Given the description of an element on the screen output the (x, y) to click on. 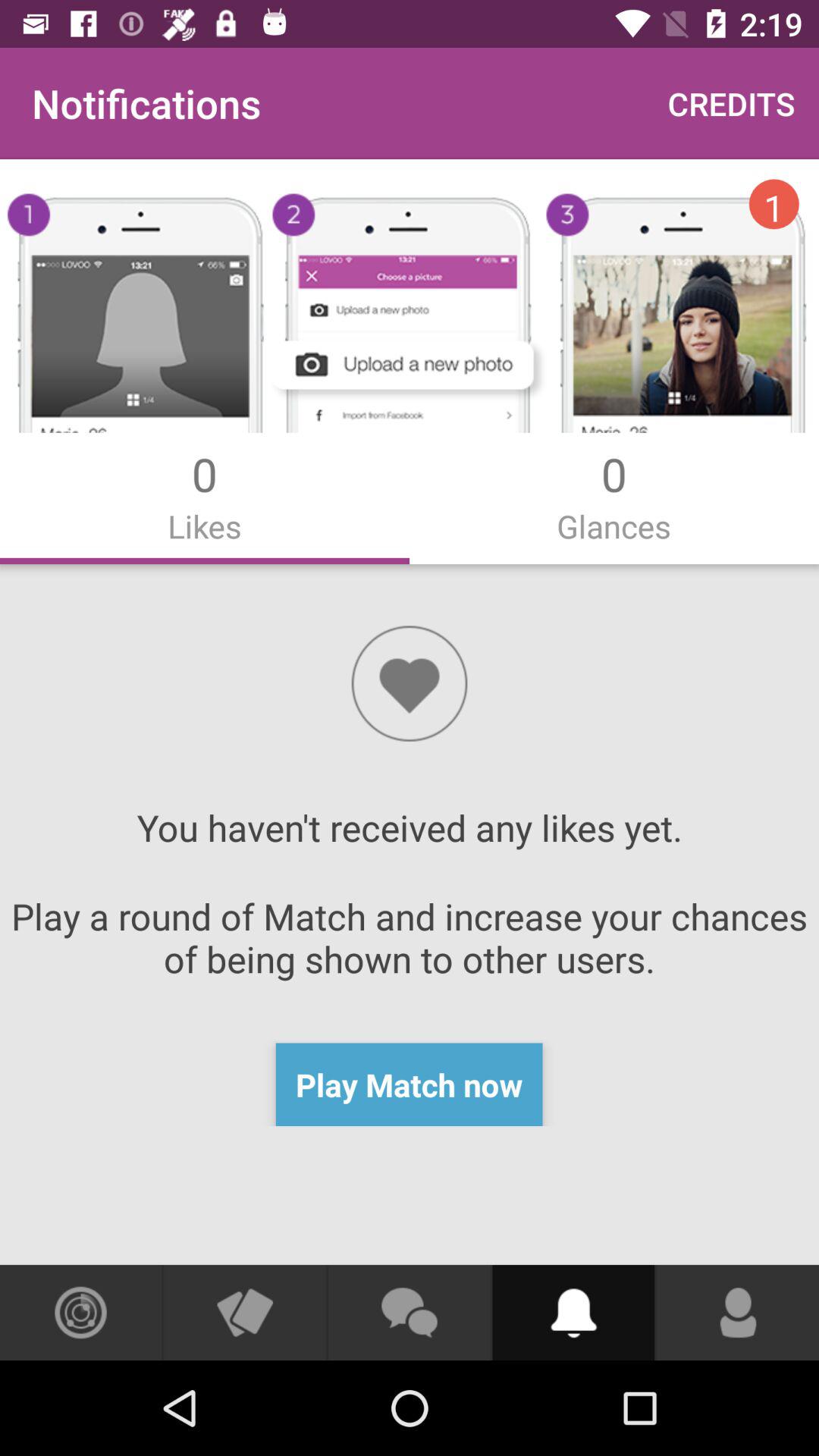
click the bottom right icon (737, 1312)
select the 2nd option (614, 494)
select the  0 glances (614, 494)
select the heart symbol (409, 683)
select the text in blue color box (409, 1084)
click on the chat icon at the bottom of the page (409, 1312)
